Given the description of an element on the screen output the (x, y) to click on. 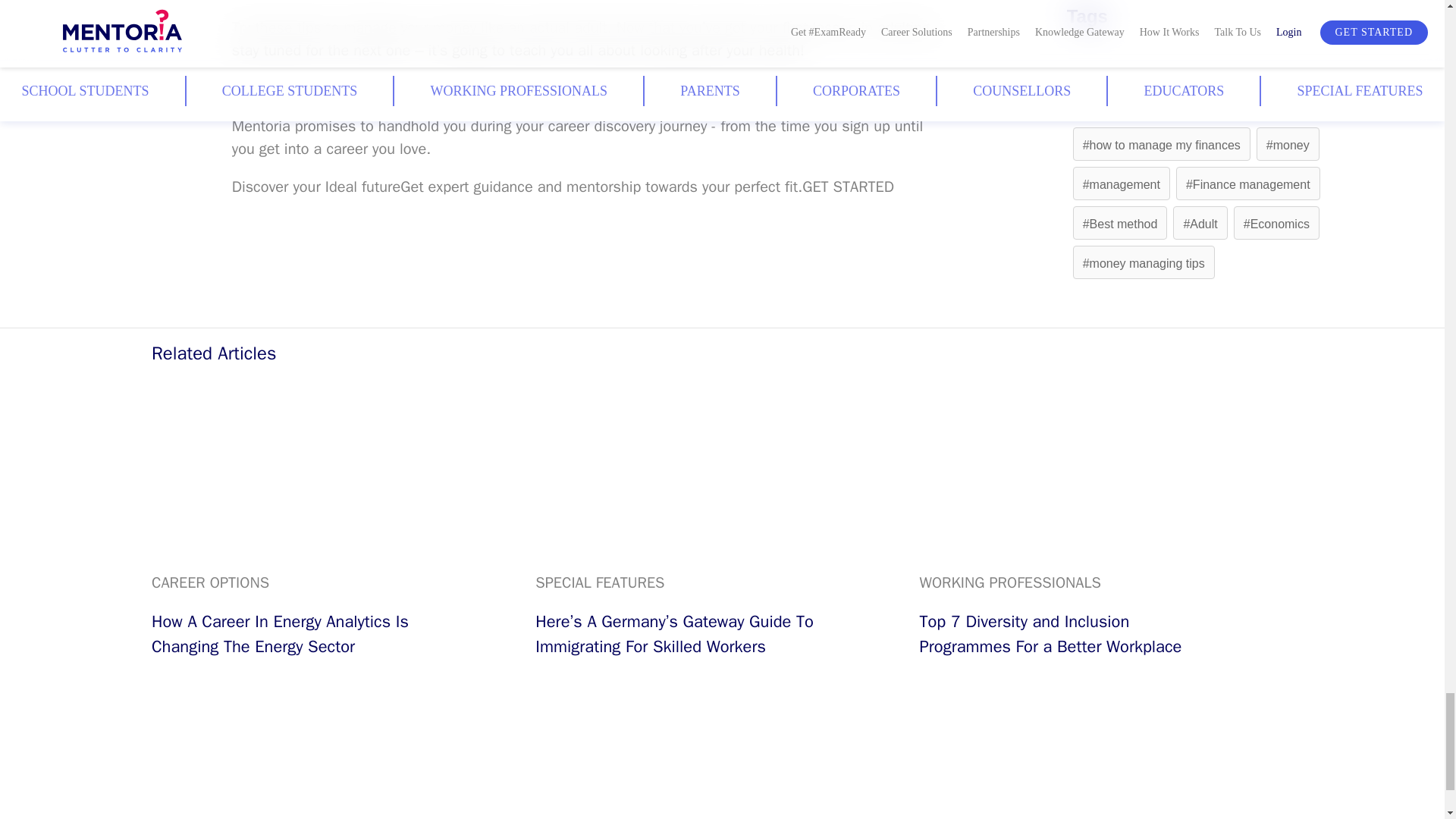
money management tips (1153, 105)
career path (1281, 105)
money (1287, 144)
Economics (1275, 223)
how to manage my finances (1161, 144)
Finance management (1248, 184)
money managing tips (1144, 263)
Best method (1120, 223)
management (1121, 184)
Adult (1199, 223)
